Given the description of an element on the screen output the (x, y) to click on. 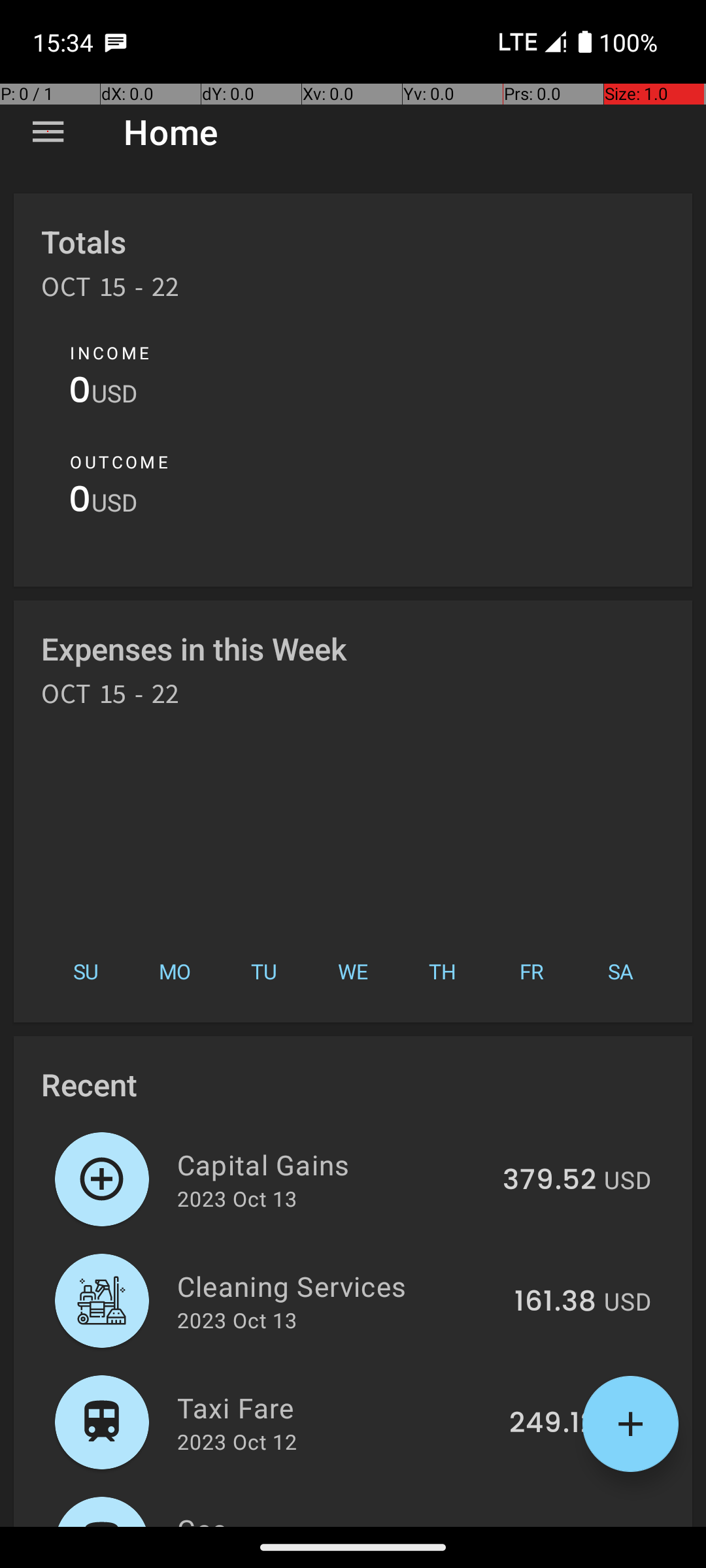
Capital Gains Element type: android.widget.TextView (332, 1164)
379.52 Element type: android.widget.TextView (549, 1180)
Cleaning Services Element type: android.widget.TextView (338, 1285)
161.38 Element type: android.widget.TextView (554, 1301)
Taxi Fare Element type: android.widget.TextView (335, 1407)
249.12 Element type: android.widget.TextView (552, 1423)
339.11 Element type: android.widget.TextView (555, 1524)
